Given the description of an element on the screen output the (x, y) to click on. 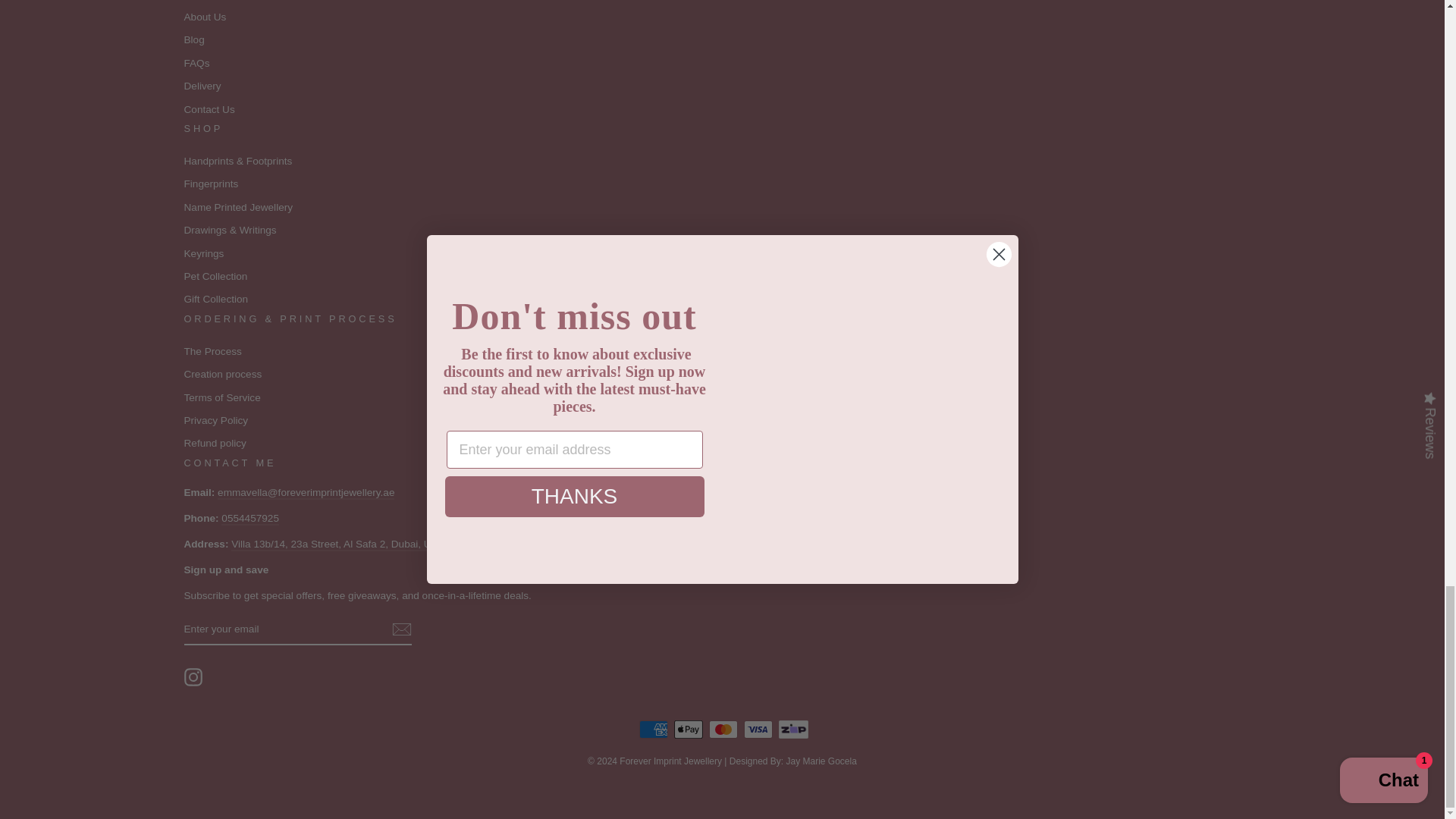
Visa (758, 729)
Mastercard (723, 729)
tel:0554457925 (250, 518)
Apple Pay (688, 729)
Forever Imprint Jewellery on Instagram (192, 677)
American Express (653, 729)
